Given the description of an element on the screen output the (x, y) to click on. 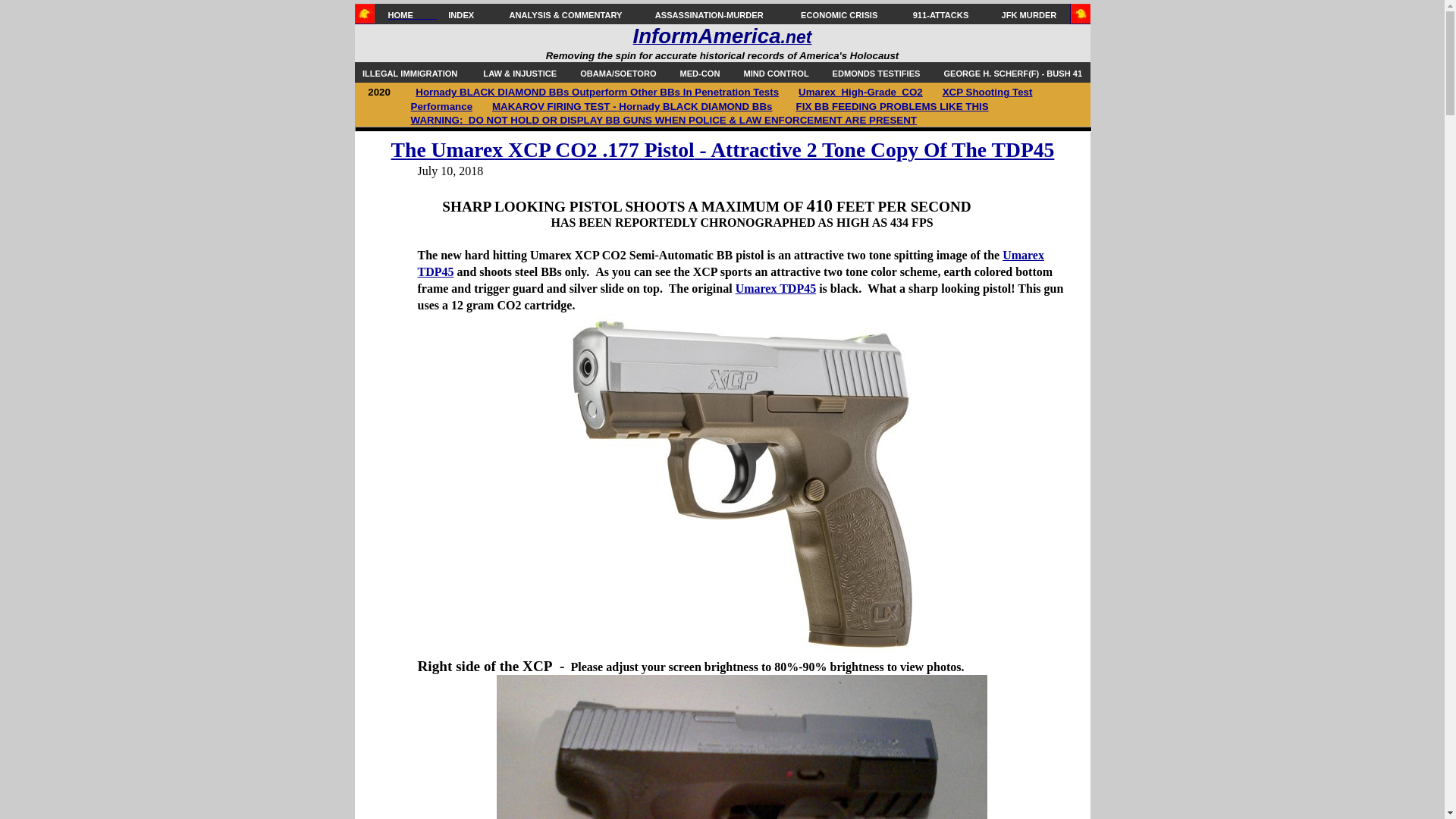
The Umarex XCP CO2 .177 Pistol (542, 149)
Umarex TDP45 (775, 287)
InformAmerica.net (722, 39)
MAKAROV FIRING TEST - Hornady BLACK DIAMOND BBs (632, 105)
Umarex TDP45 (729, 263)
HOME           (412, 14)
XCP Shooting Test (987, 91)
- Attractive 2 Tone Copy Of The TDP45 (874, 150)
FIX BB FEEDING PROBLEMS LIKE THIS (892, 106)
Performance (441, 106)
